Given the description of an element on the screen output the (x, y) to click on. 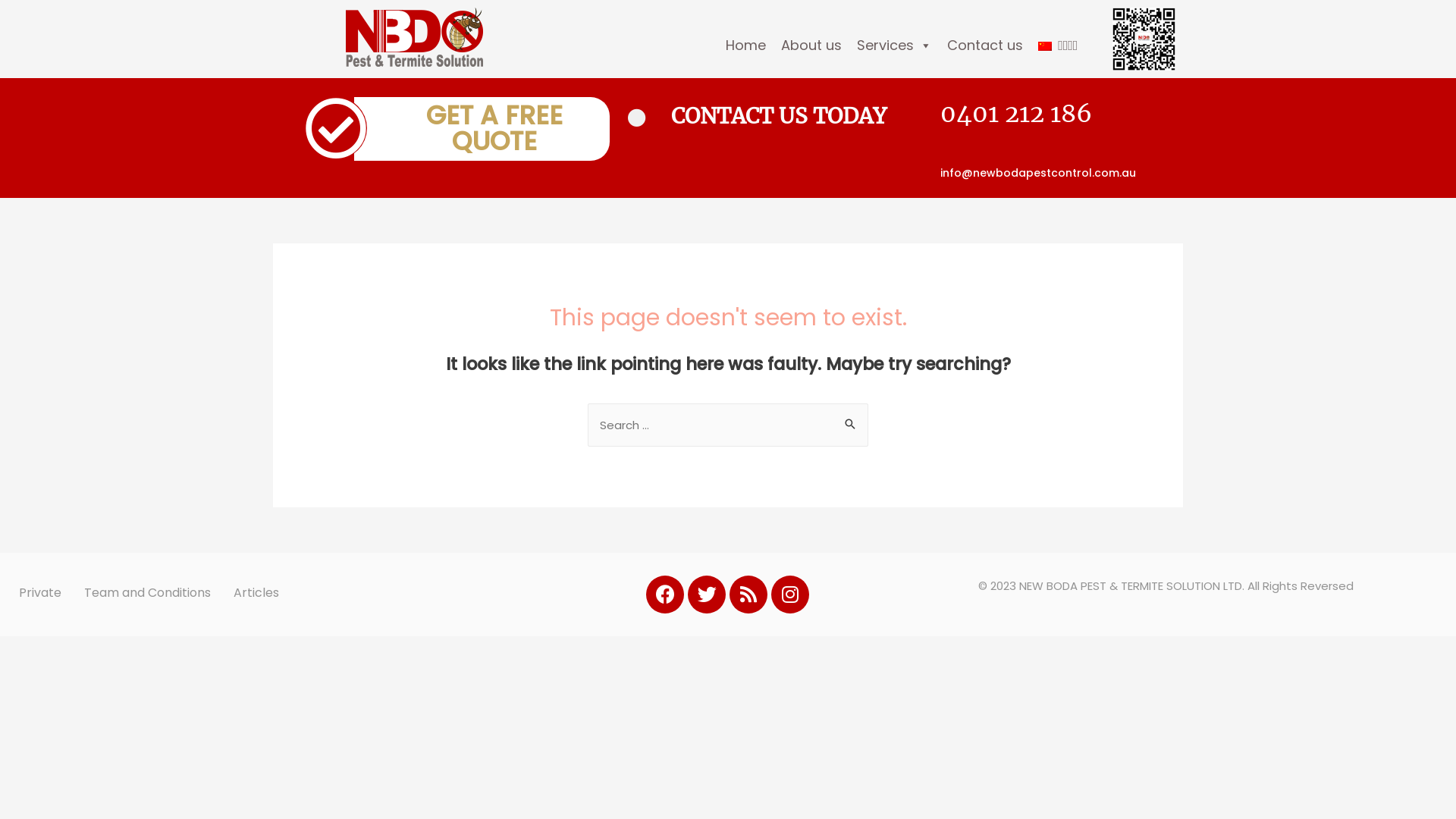
About us Element type: text (811, 45)
Search Element type: text (851, 418)
CONTACT US TODAY Element type: text (778, 115)
Services Element type: text (894, 45)
Articles Element type: text (256, 592)
Private Element type: text (39, 592)
0401 212 186 Element type: text (1016, 113)
info@newbodapestcontrol.com.au Element type: text (1037, 172)
Contact us Element type: text (984, 45)
GET A FREE QUOTE Element type: text (481, 128)
Home Element type: text (745, 45)
Team and Conditions Element type: text (147, 592)
